Given the description of an element on the screen output the (x, y) to click on. 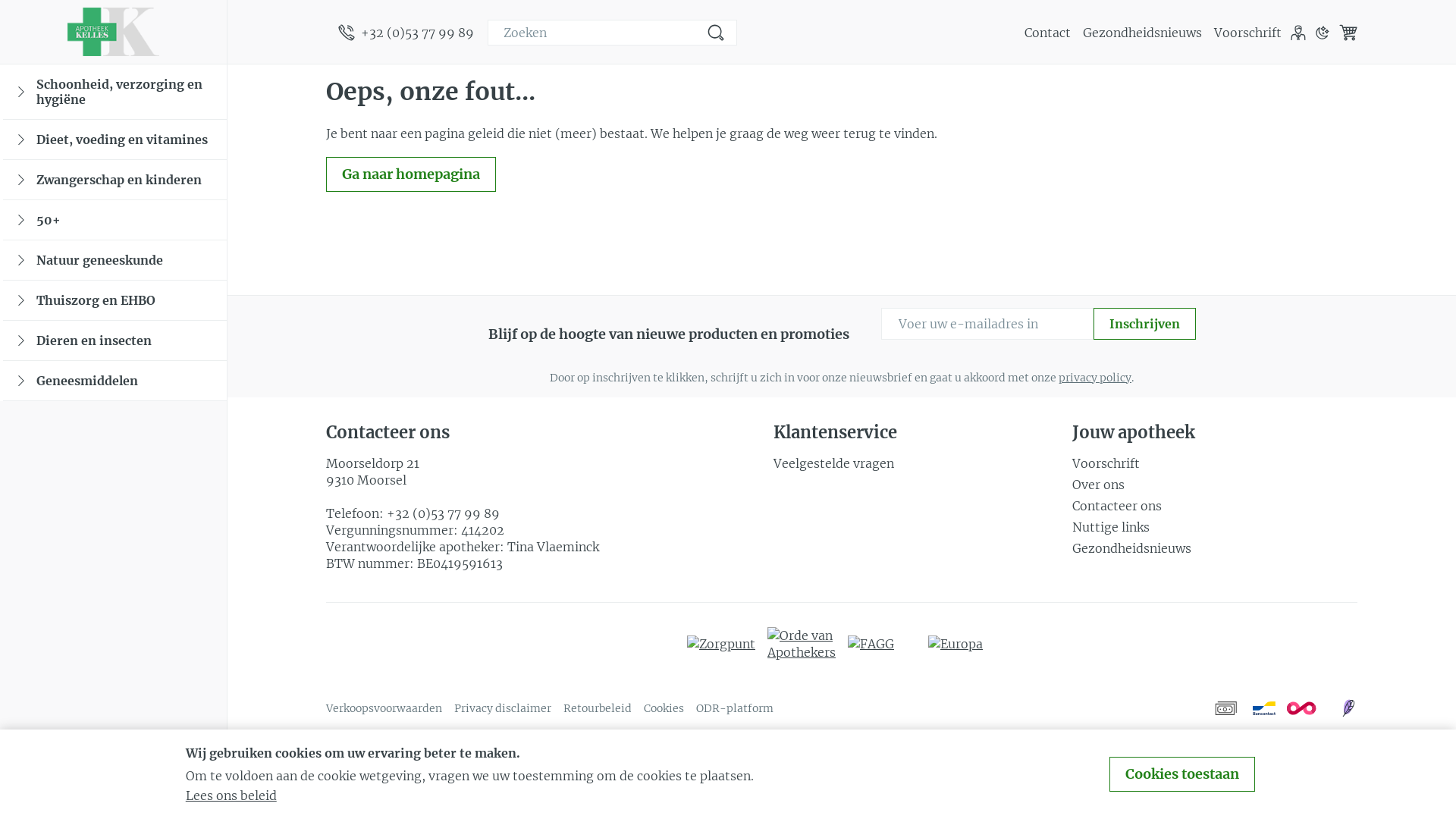
Dieet, voeding en vitamines Element type: text (114, 139)
Gezondheidsnieuws Element type: text (1141, 32)
Inschrijven Element type: text (1144, 323)
Dieren en insecten Element type: text (114, 340)
Thuiszorg en EHBO Element type: text (114, 300)
Voorschrift Element type: text (1247, 32)
Geneesmiddelen Element type: text (114, 380)
ODR-platform Element type: text (734, 707)
Cookies toestaan Element type: text (1182, 773)
+32 (0)53 77 99 89 Element type: text (405, 32)
Natuur geneeskunde Element type: text (114, 260)
50+ Element type: text (114, 220)
Donkere modus Element type: text (1322, 32)
Contacteer ons Element type: text (1214, 505)
Cookies Element type: text (663, 707)
Privacy disclaimer Element type: text (502, 707)
Apotheek Kelles Element type: hover (112, 31)
Veelgestelde vragen Element type: text (916, 463)
Retourbeleid Element type: text (597, 707)
Verkoopsvoorwaarden Element type: text (384, 707)
Ga naar homepagina Element type: text (410, 173)
Zoeken Element type: text (715, 32)
Contact Element type: text (1047, 32)
Voorschrift Element type: text (1214, 463)
Facebook Element type: hover (71, 795)
Lees ons beleid Element type: text (230, 795)
Over ons Element type: text (1214, 484)
Gezondheidsnieuws Element type: text (1214, 547)
Nuttige links Element type: text (1214, 526)
privacy policy Element type: text (1094, 377)
Instagram Element type: hover (167, 795)
Winkelwagen Element type: text (1348, 32)
Klant menu Element type: text (1297, 32)
+32 (0)53 77 99 89 Element type: text (442, 512)
Zwangerschap en kinderen Element type: text (114, 180)
Apotheek Kelles Element type: hover (113, 31)
